Given the description of an element on the screen output the (x, y) to click on. 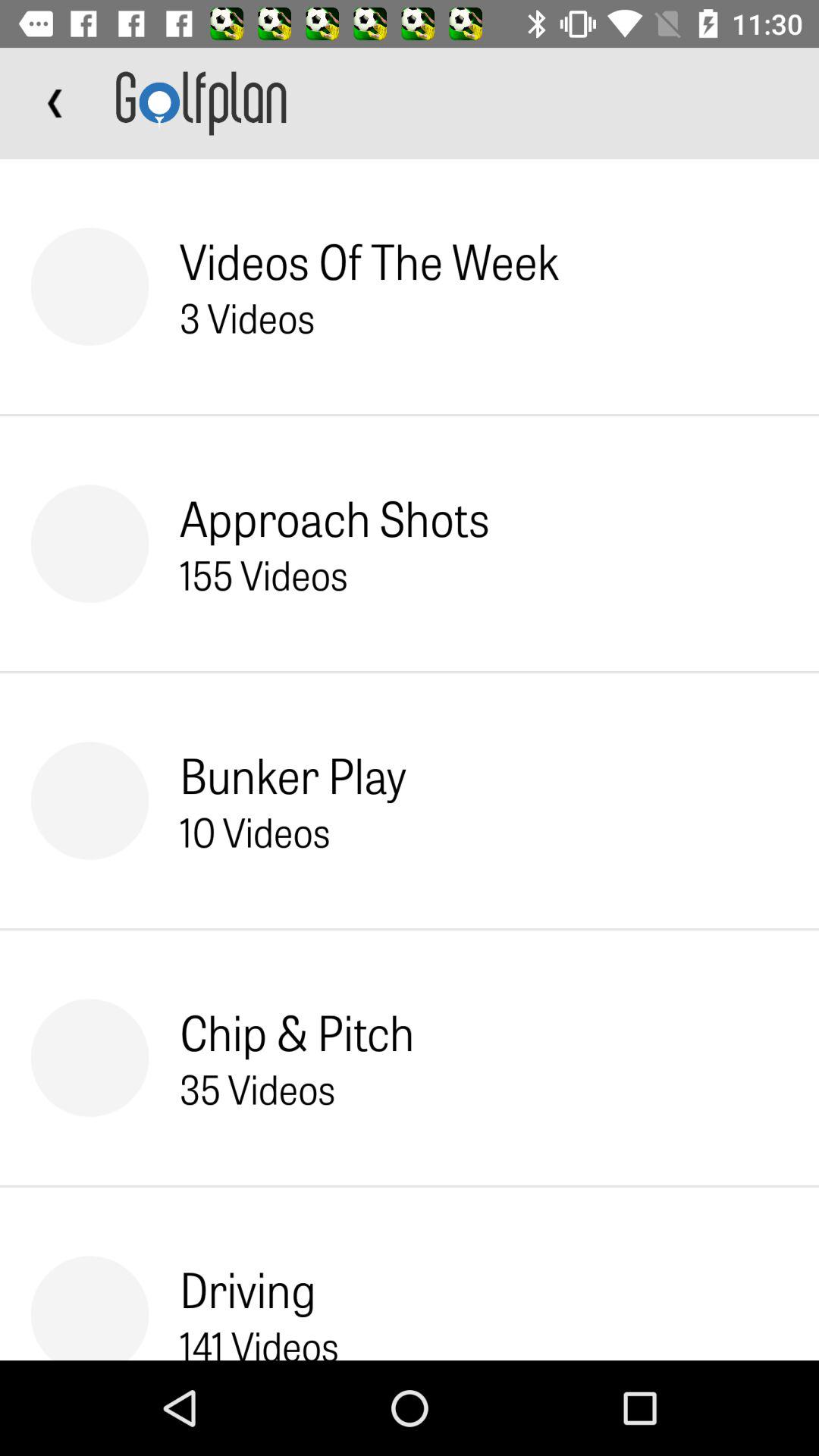
choose the icon below approach shots item (263, 574)
